Given the description of an element on the screen output the (x, y) to click on. 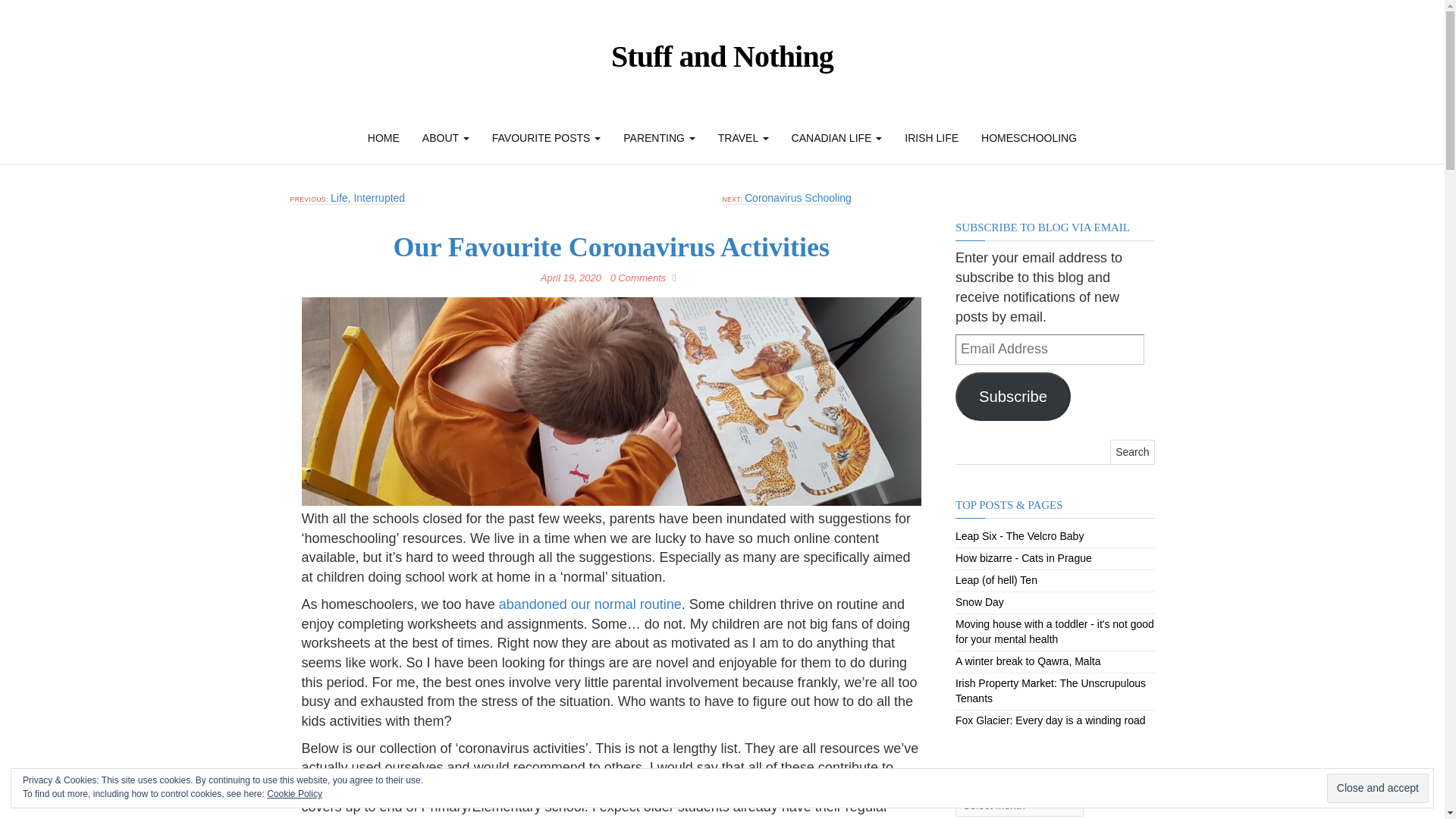
0 Comments (641, 277)
IRISH LIFE (931, 137)
Stuff and Nothing (721, 56)
PARENTING (658, 137)
HOME (383, 137)
Search (1131, 452)
PREVIOUS: Life, Interrupted (346, 197)
Favourite Posts (546, 137)
FAVOURITE POSTS (546, 137)
About (445, 137)
abandoned our normal routine (590, 604)
NEXT: Coronavirus Schooling (786, 197)
CANADIAN LIFE (836, 137)
Parenting (658, 137)
TRAVEL (743, 137)
